Given the description of an element on the screen output the (x, y) to click on. 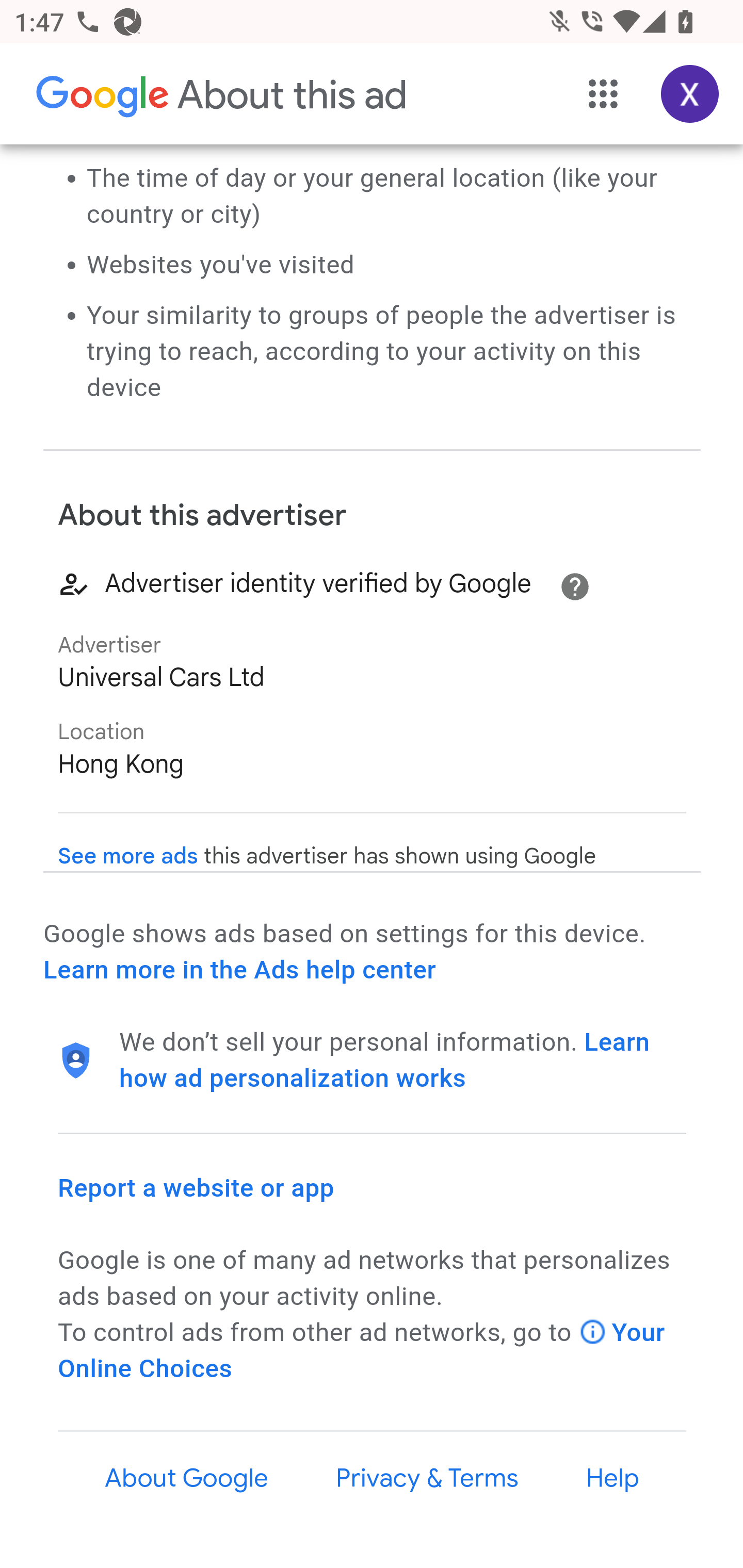
Google apps (603, 94)
Google Account: Xiaoran (zxrappiumtest@gmail.com) (690, 94)
See more ads (opens in new tab) See more ads (127, 856)
Learn more in the Ads help center (239, 970)
Learn how ad personalization works (384, 1060)
Report a website or app (196, 1187)
Your Online Choices (361, 1349)
About Google (186, 1479)
Privacy & Terms (426, 1479)
Help (612, 1479)
